Given the description of an element on the screen output the (x, y) to click on. 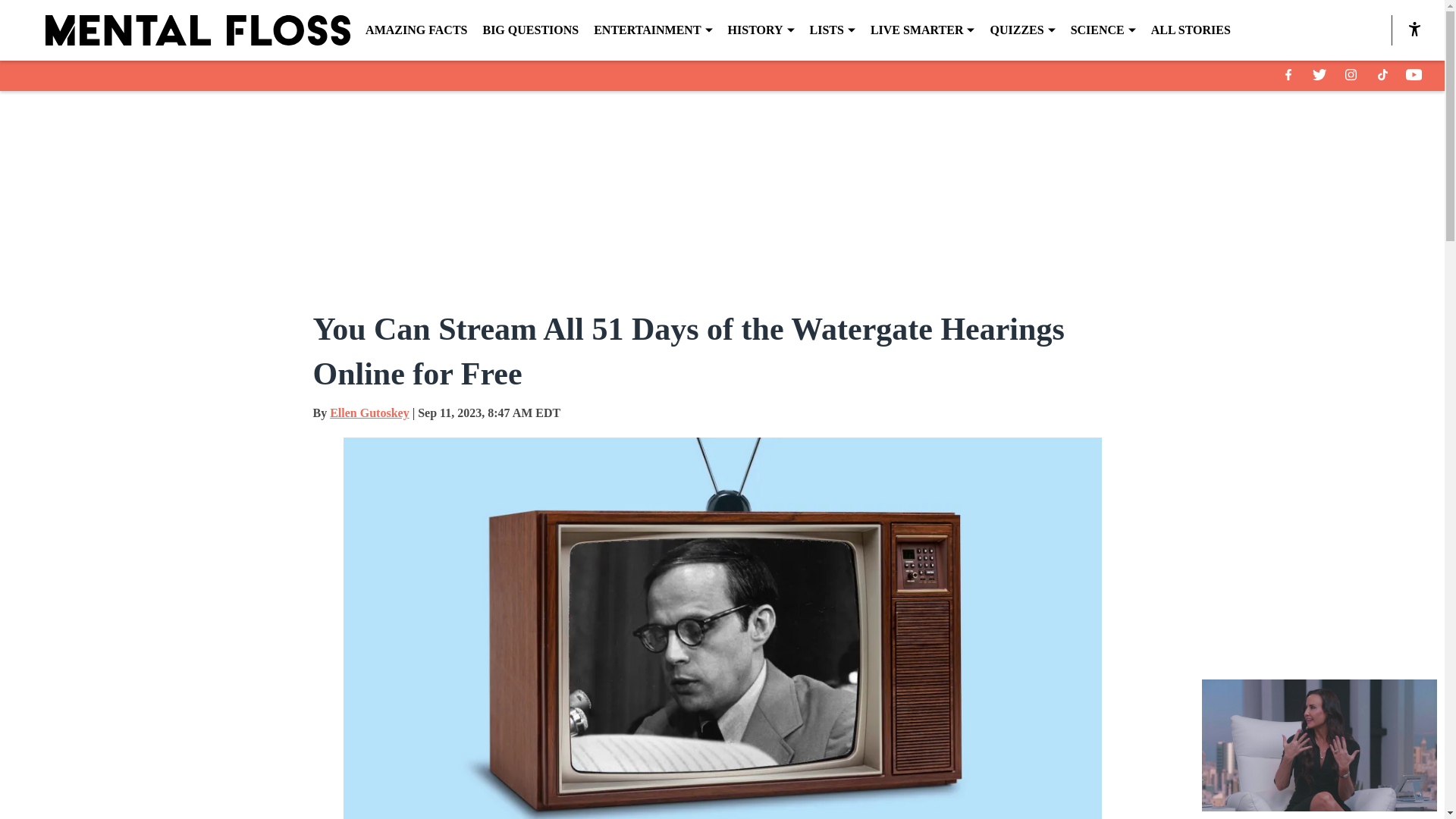
ALL STORIES (1190, 30)
AMAZING FACTS (416, 30)
BIG QUESTIONS (529, 30)
